Given the description of an element on the screen output the (x, y) to click on. 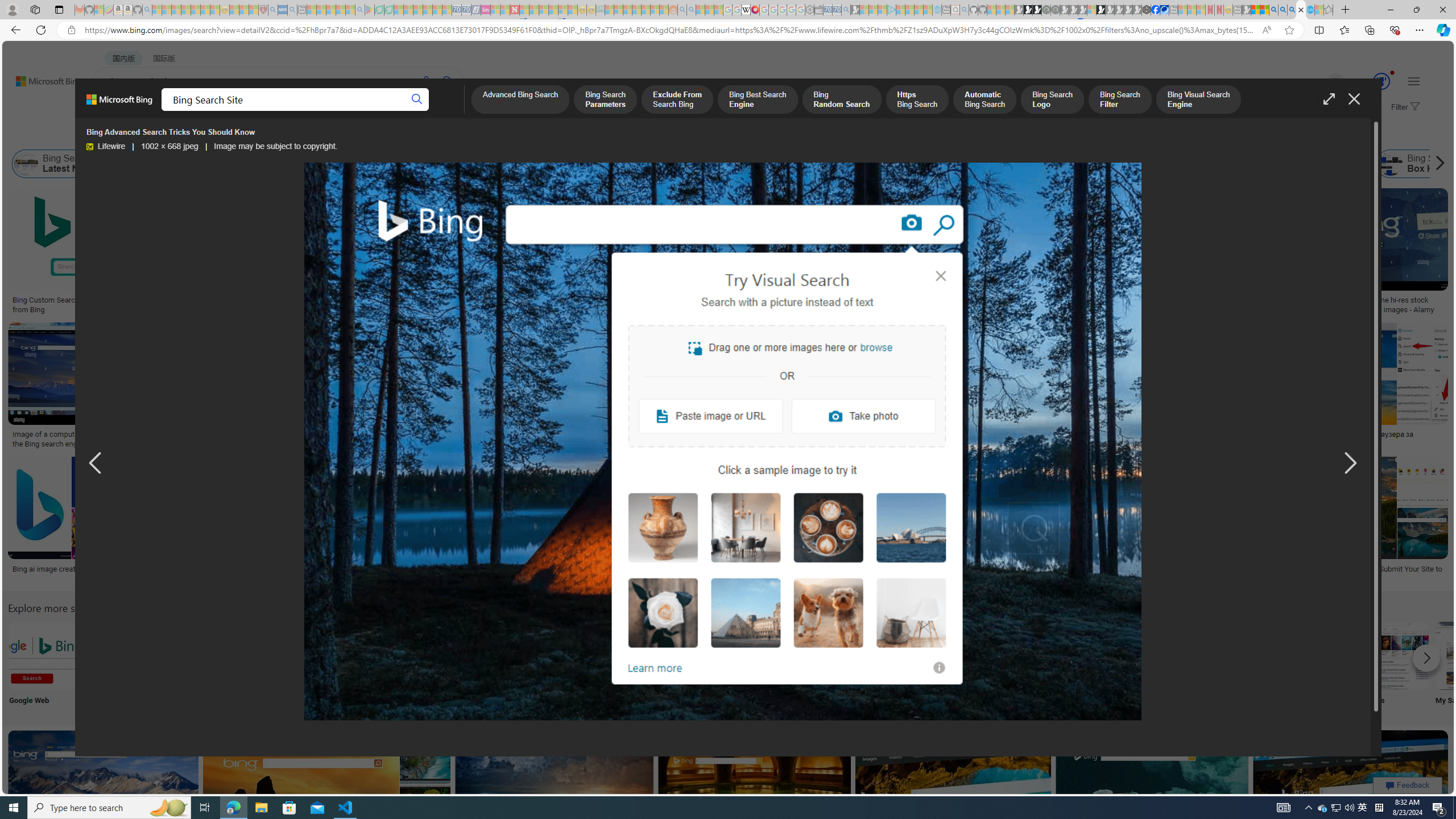
Bing People Search People (568, 665)
" Bing " search engine web page Stock Photo - Alamy (775, 438)
Bing Best Search Engine (826, 163)
Bing Home Screen (355, 163)
Bing Search App Icon App Icon (418, 665)
Bing AI - Search (1272, 9)
Microsoft Bing Search (711, 163)
Filter (1403, 107)
